Given the description of an element on the screen output the (x, y) to click on. 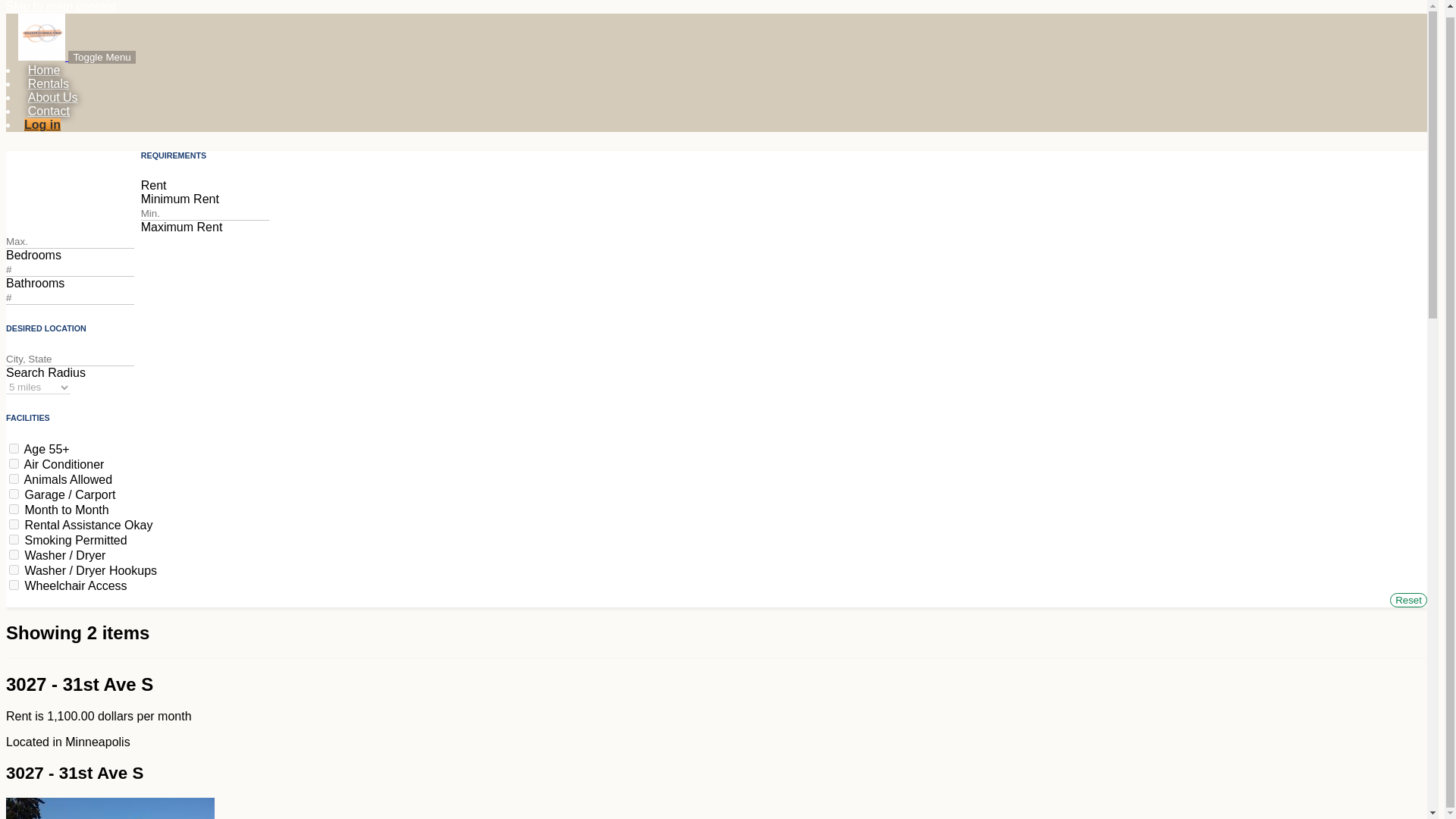
1 (13, 448)
1 (13, 584)
1 (13, 493)
2 Bedrooms 0 (82, 196)
1 (13, 539)
1 (13, 569)
Log in (42, 124)
1 (13, 554)
Toggle Menu (101, 56)
About Us (52, 97)
Rentals (47, 83)
Contact (48, 110)
1 (13, 463)
search (21, 4)
1 (13, 509)
